Given the description of an element on the screen output the (x, y) to click on. 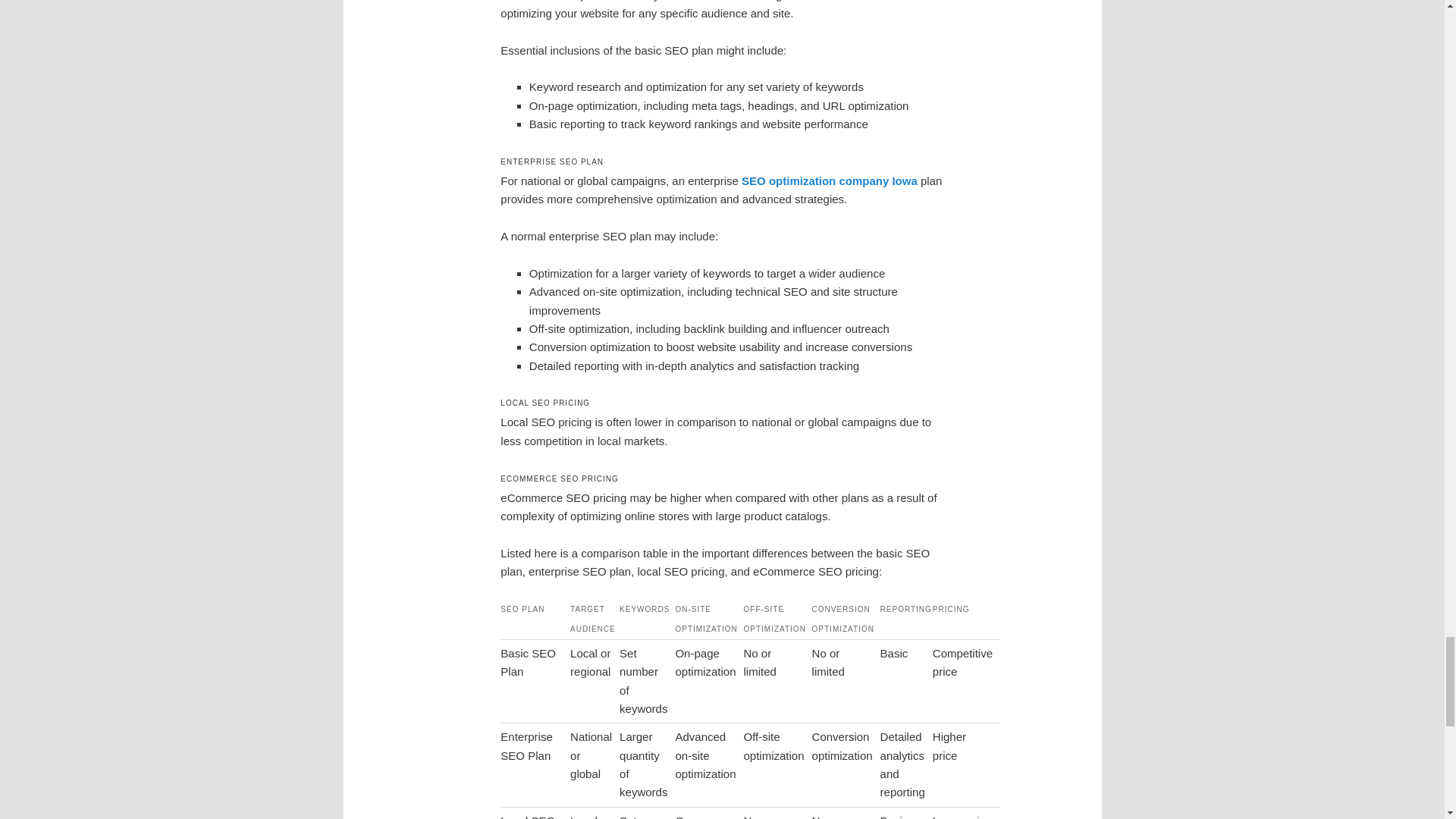
SEO optimization company Iowa (829, 180)
